Given the description of an element on the screen output the (x, y) to click on. 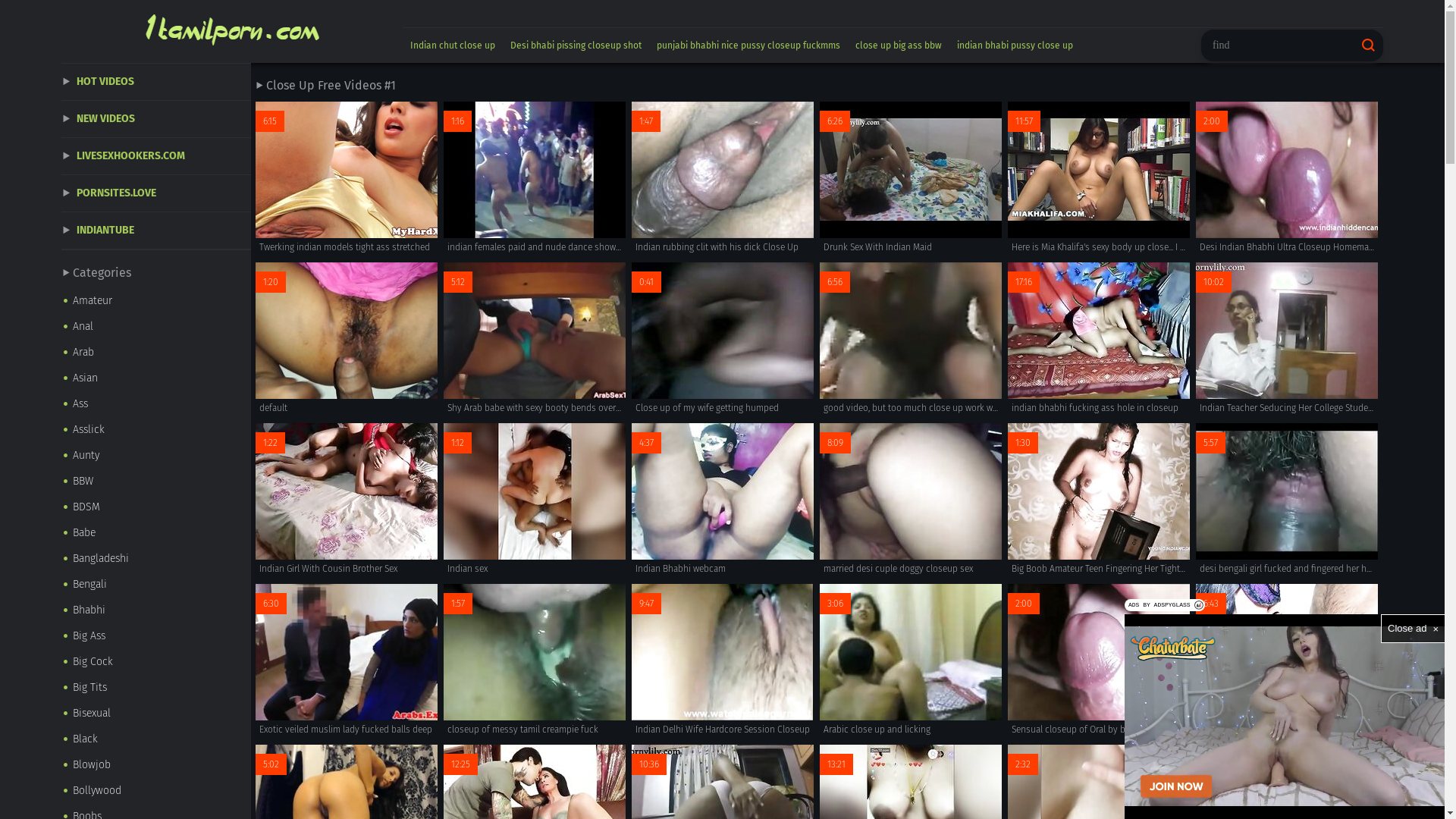
0:41
Close up of my wife getting humped Element type: text (722, 339)
2:00
Desi Indian Bhabhi Ultra Closeup Homemade Blowjob MMS Element type: text (1286, 178)
Blowjob Element type: text (156, 765)
Ass Element type: text (156, 404)
close up big ass bbw Element type: text (898, 45)
1:16
indian females paid and nude dance show . ganu Element type: text (534, 178)
Babe Element type: text (156, 533)
Amateur Element type: text (156, 300)
8:09
married desi cuple doggy closeup sex Element type: text (910, 500)
1:57
closeup of messy tamil creampie fuck Element type: text (534, 660)
17:16
indian bhabhi fucking ass hole in closeup Element type: text (1098, 339)
Asian Element type: text (156, 378)
NEW VIDEOS Element type: text (156, 119)
Bhabhi Element type: text (156, 610)
BBW Element type: text (156, 481)
Bengali Element type: text (156, 584)
BDSM Element type: text (156, 507)
9:47
Indian Delhi Wife Hardcore Session Closeup Element type: text (722, 660)
PORNSITES.LOVE Element type: text (156, 193)
Big Ass Element type: text (156, 636)
LIVESEXHOOKERS.COM Element type: text (156, 156)
6:15
Twerking indian models tight ass stretched Element type: text (346, 178)
Bollywood Element type: text (156, 790)
Anal Element type: text (156, 326)
1:12
Indian sex Element type: text (534, 500)
Desi bhabi pissing closeup shot Element type: text (575, 45)
4:37
Indian Bhabhi webcam Element type: text (722, 500)
indian bhabi pussy close up Element type: text (1014, 45)
Bisexual Element type: text (156, 713)
3:06
Arabic close up and licking Element type: text (910, 660)
Black Element type: text (156, 739)
Bangladeshi Element type: text (156, 558)
Aunty Element type: text (156, 455)
6:30
Exotic veiled muslim lady fucked balls deep Element type: text (346, 660)
Big Cock Element type: text (156, 661)
punjabi bhabhi nice pussy closeup fuckmms Element type: text (748, 45)
Asslick Element type: text (156, 429)
1:20
default Element type: text (346, 339)
1:47
Indian rubbing clit with his dick Close Up Element type: text (722, 178)
Arab Element type: text (156, 352)
HOT VIDEOS Element type: text (156, 81)
6:26
Drunk Sex With Indian Maid Element type: text (910, 178)
1:22
Indian Girl With Cousin Brother Sex Element type: text (346, 500)
10:02
Indian Teacher Seducing Her College Student With Sex Element type: text (1286, 339)
2:00
Sensual closeup of Oral by beautiful Tamil bhabhi Element type: text (1098, 660)
INDIANTUBE Element type: text (156, 230)
ADS BY ADSPYGLASS Element type: text (1164, 605)
Indian chut close up Element type: text (452, 45)
Big Tits Element type: text (156, 687)
